Given the description of an element on the screen output the (x, y) to click on. 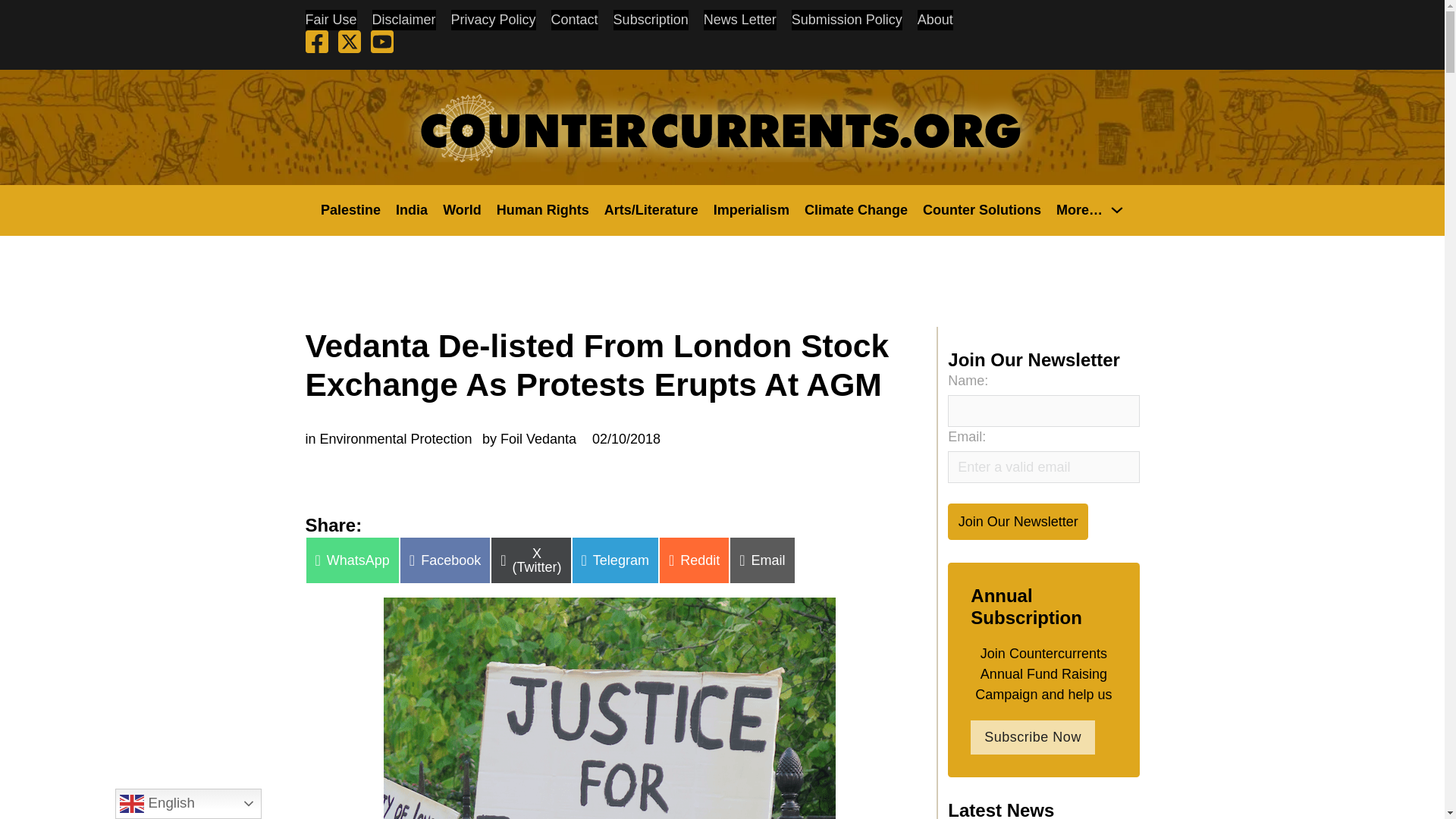
Imperialism (751, 209)
About (935, 19)
News Letter (739, 19)
Disclaimer (403, 19)
Privacy Policy (493, 19)
India (412, 209)
Human Rights (542, 209)
World (461, 209)
Contact (574, 19)
Counter Solutions (982, 209)
Subscription (650, 19)
Fair Use (330, 19)
Join Our Newsletter (1017, 520)
Palestine (350, 209)
